Given the description of an element on the screen output the (x, y) to click on. 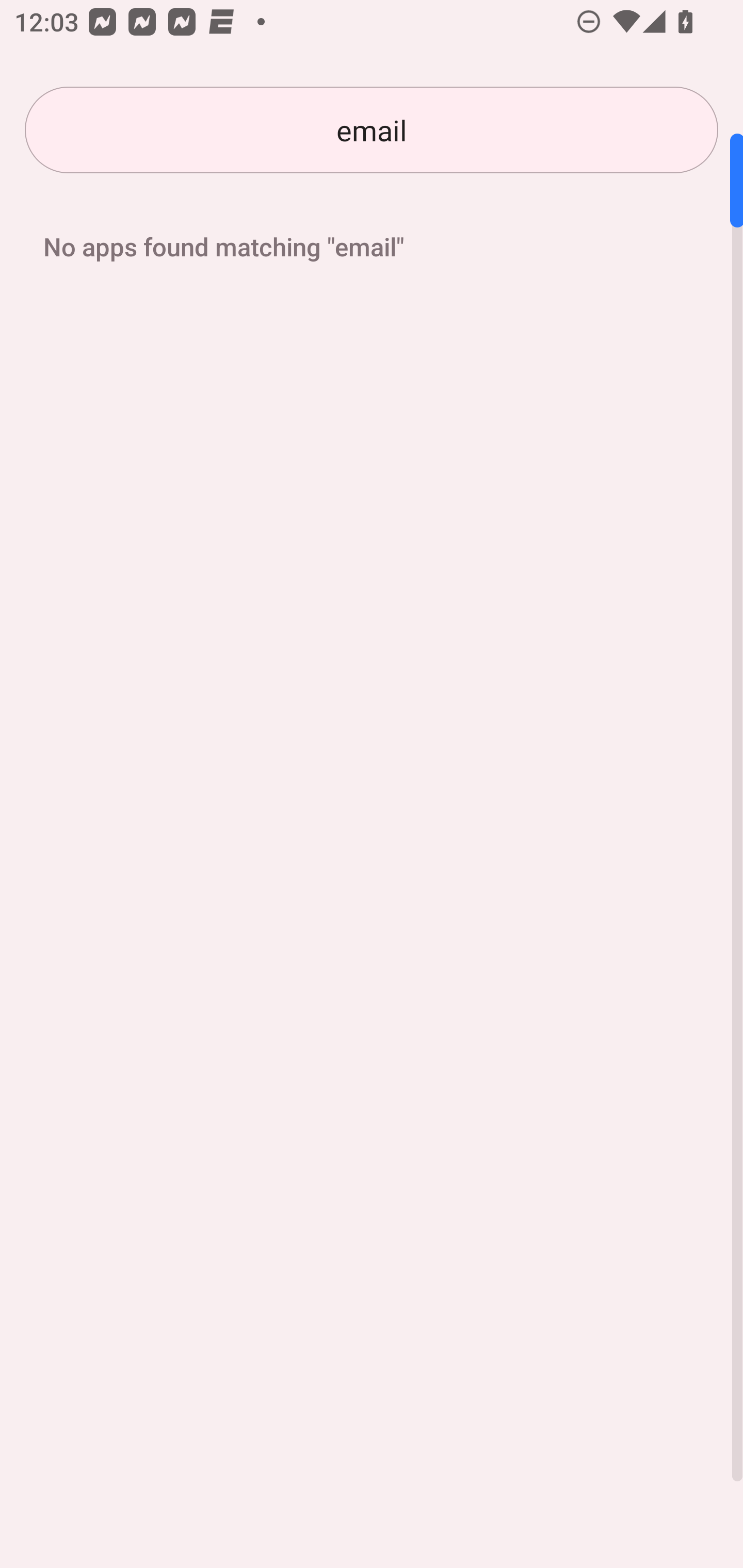
email (371, 130)
